Given the description of an element on the screen output the (x, y) to click on. 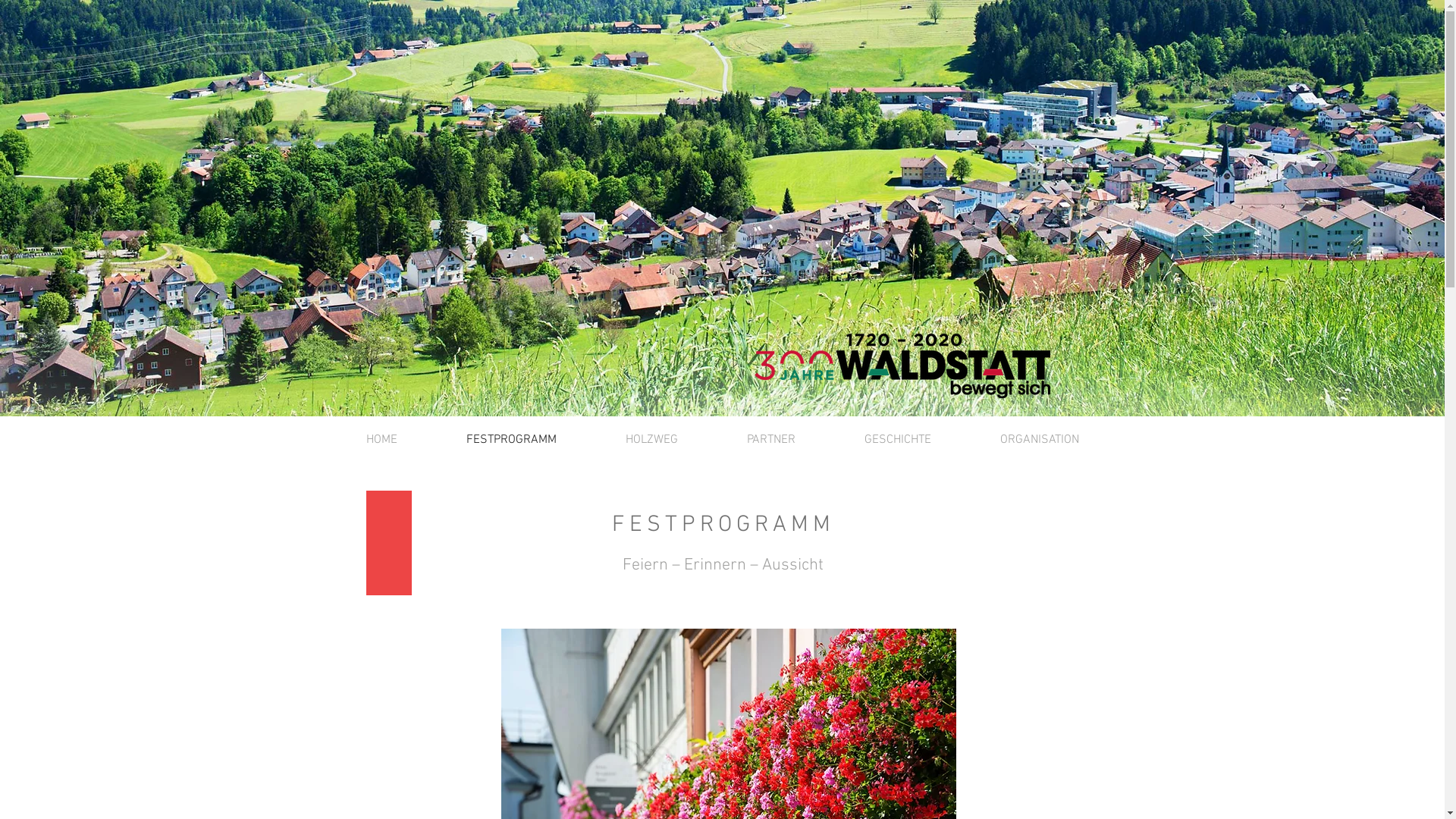
FESTPROGRAMM Element type: text (511, 439)
HOLZWEG Element type: text (651, 439)
PARTNER Element type: text (771, 439)
GESCHICHTE Element type: text (897, 439)
HOME Element type: text (380, 439)
ORGANISATION Element type: text (1039, 439)
